Given the description of an element on the screen output the (x, y) to click on. 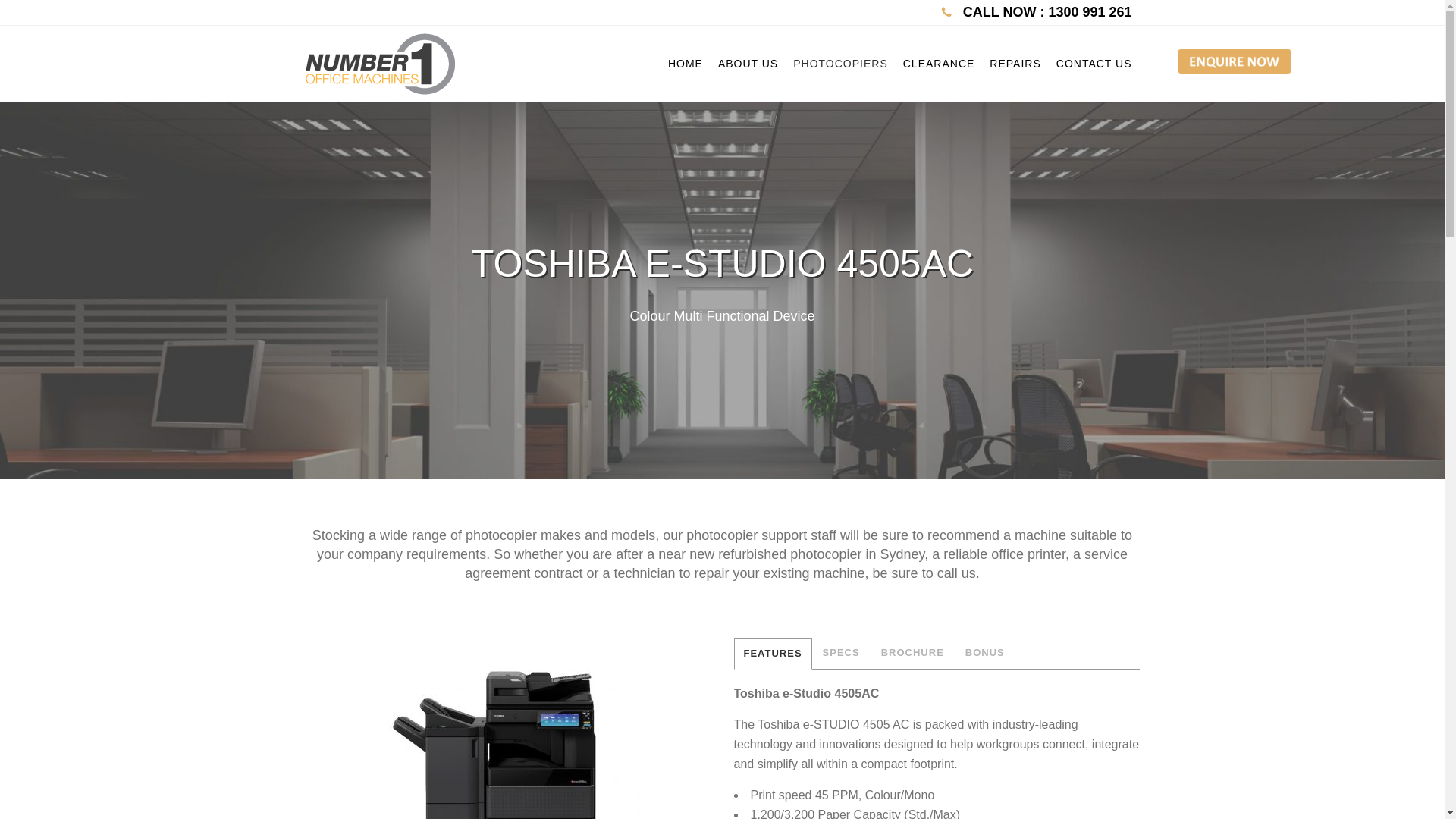
HOME Element type: text (685, 63)
BROCHURE Element type: text (912, 652)
FEATURES Element type: text (773, 653)
ABOUT US Element type: text (747, 63)
PHOTOCOPIERS Element type: text (840, 63)
SPECS Element type: text (841, 652)
REPAIRS Element type: text (1015, 63)
PRICE Element type: text (983, 652)
CONTACT US Element type: text (1093, 63)
CLEARANCE Element type: text (938, 63)
CALL NOW : 1300 991 261 Element type: text (1045, 12)
